Given the description of an element on the screen output the (x, y) to click on. 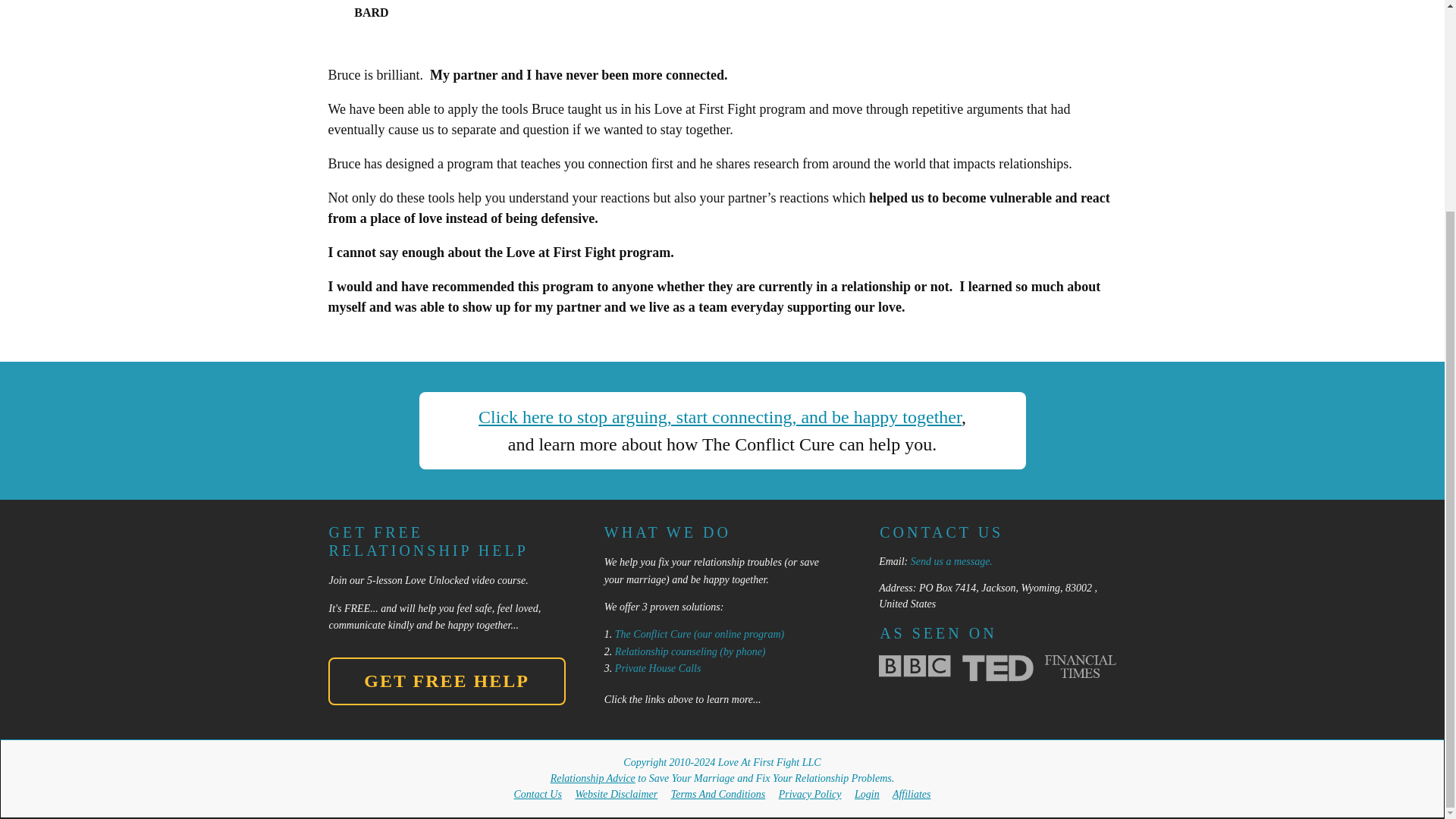
Terms And Conditions (718, 794)
Private House Calls (657, 668)
Send us a message. (951, 561)
logo-ft (1080, 667)
logo-bbc (914, 666)
GET FREE HELP (445, 681)
logo-ted (997, 668)
Contact Us (537, 794)
Login (866, 794)
